Given the description of an element on the screen output the (x, y) to click on. 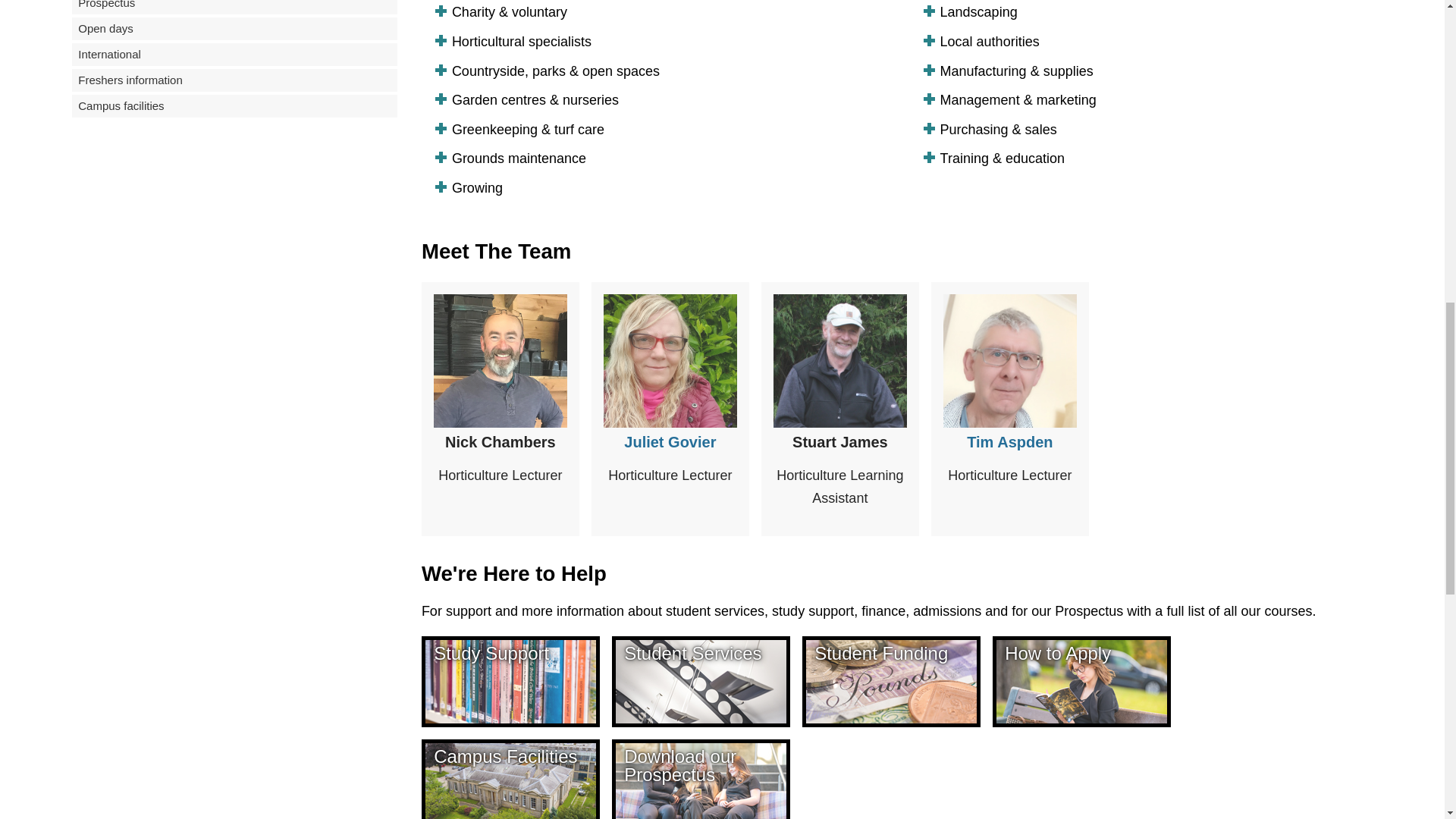
Headshot of Juliet Govier, Horticulture Lecturer (670, 360)
Stuart James, Horticulture Learning Assistant (840, 360)
Horticulture lecturer  (500, 360)
Tim Aspden (1010, 360)
